Given the description of an element on the screen output the (x, y) to click on. 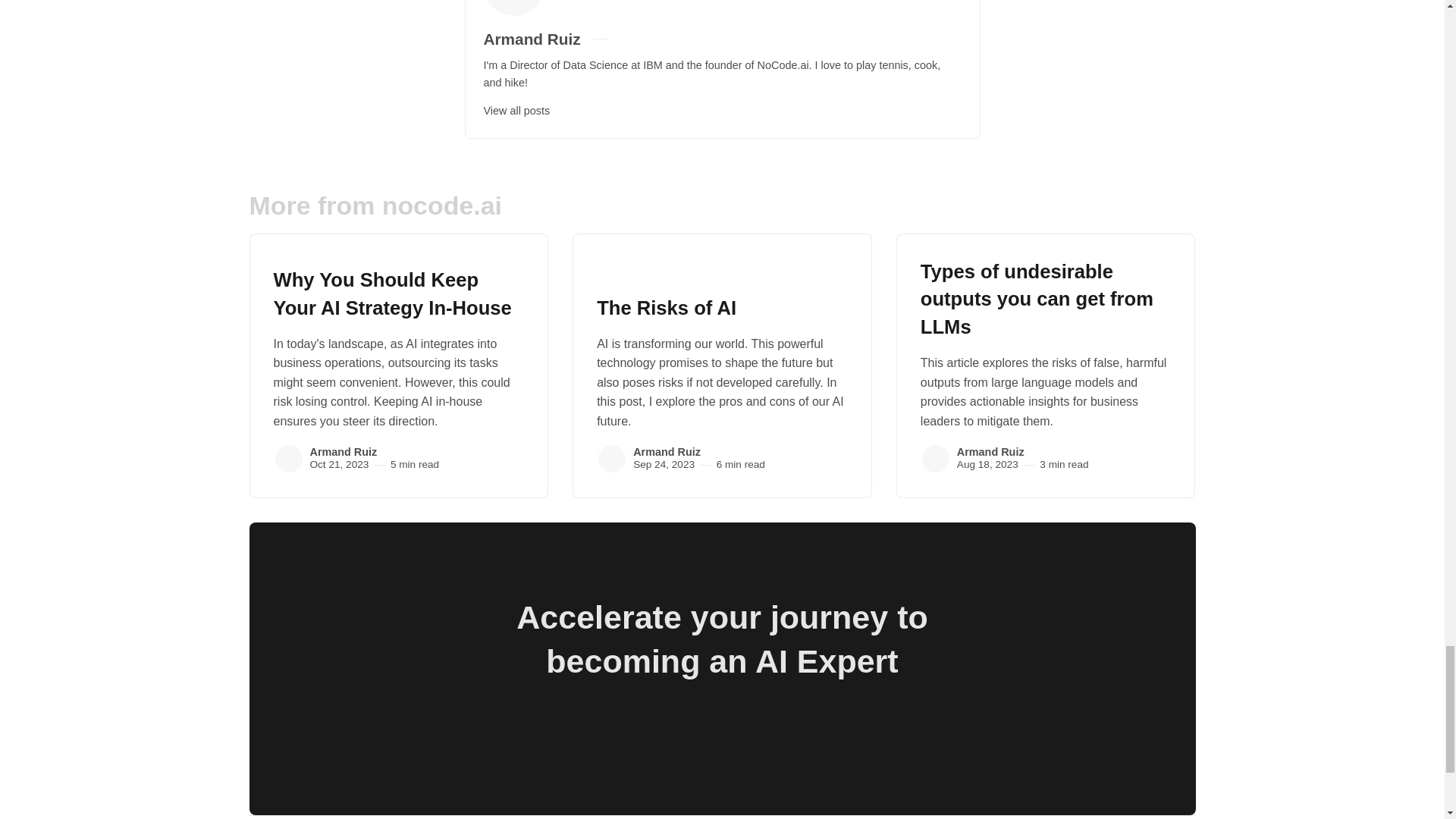
Armand Ruiz (287, 458)
Types of undesirable outputs you can get from LLMs (1036, 299)
Twitter (625, 39)
Armand Ruiz (342, 451)
The Risks of AI (666, 307)
Why You Should Keep Your AI Strategy In-House (392, 293)
Website (644, 39)
Armand Ruiz (666, 451)
Armand Ruiz (531, 38)
Armand Ruiz (935, 458)
View all posts (516, 110)
Armand Ruiz (611, 458)
